Given the description of an element on the screen output the (x, y) to click on. 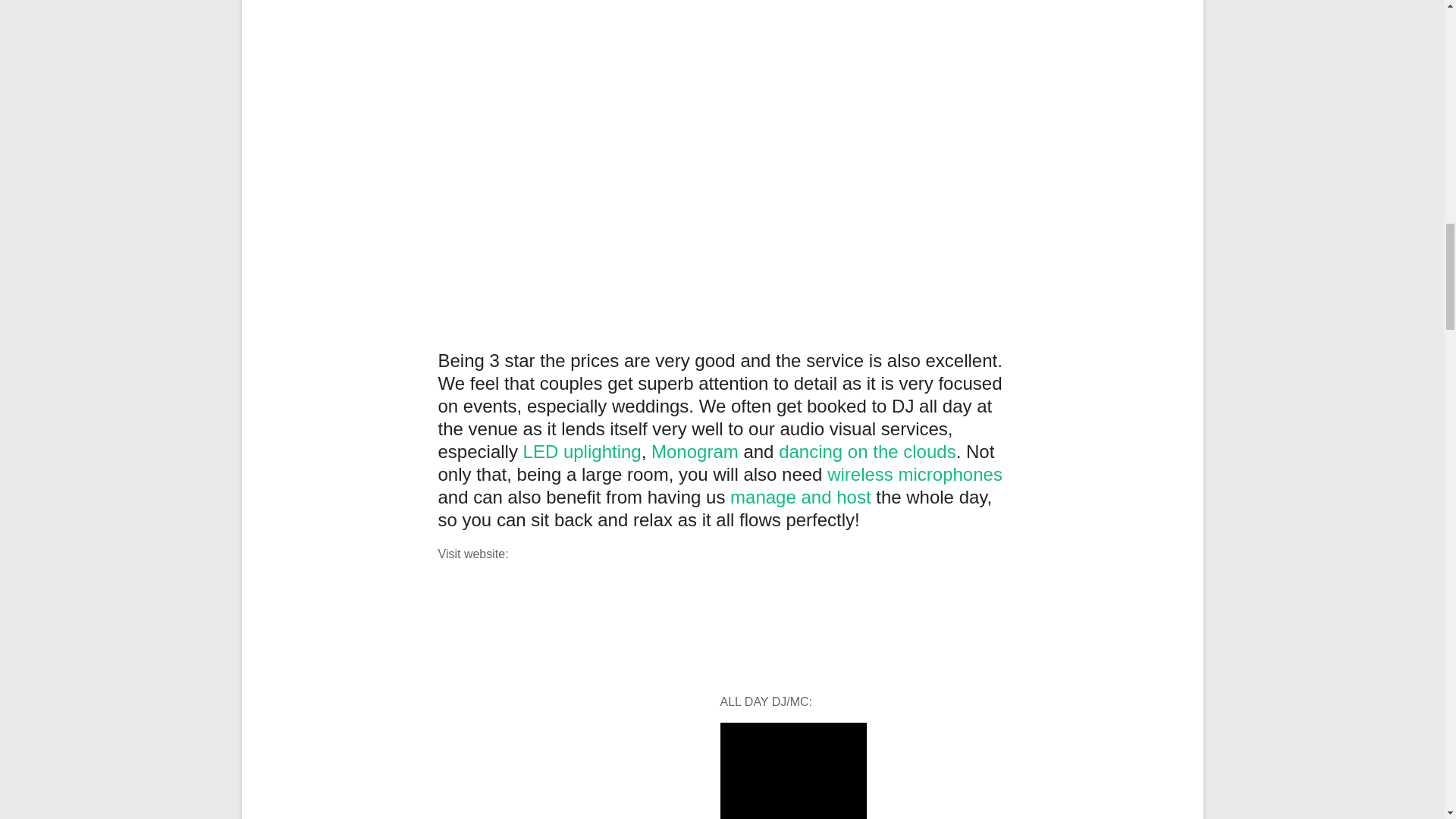
dancing on the clouds (867, 451)
Monogram (694, 451)
wireless microphones (915, 474)
manage and host (800, 496)
LED uplighting (582, 451)
